Given the description of an element on the screen output the (x, y) to click on. 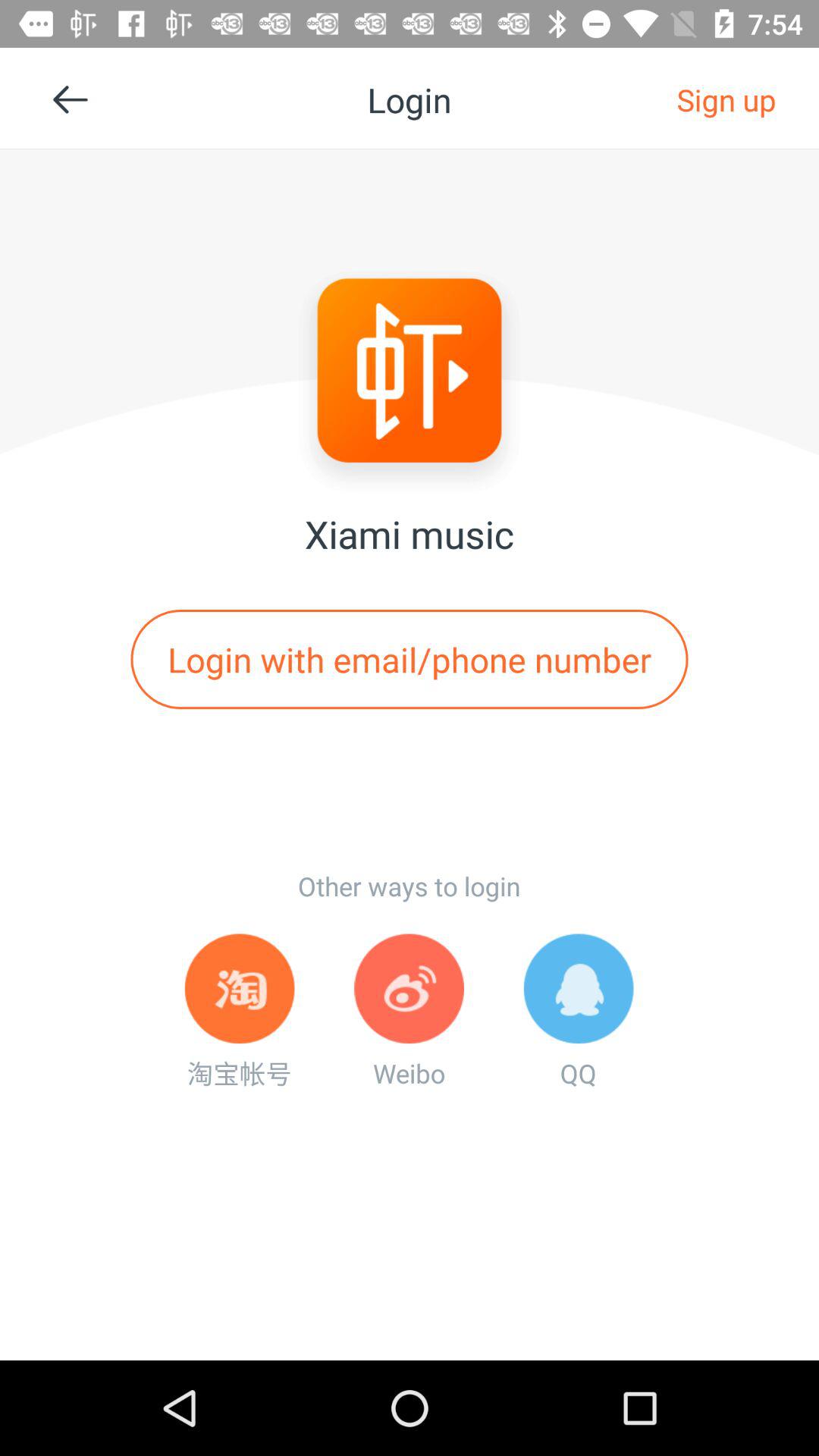
press qq at the bottom right corner (578, 1011)
